Given the description of an element on the screen output the (x, y) to click on. 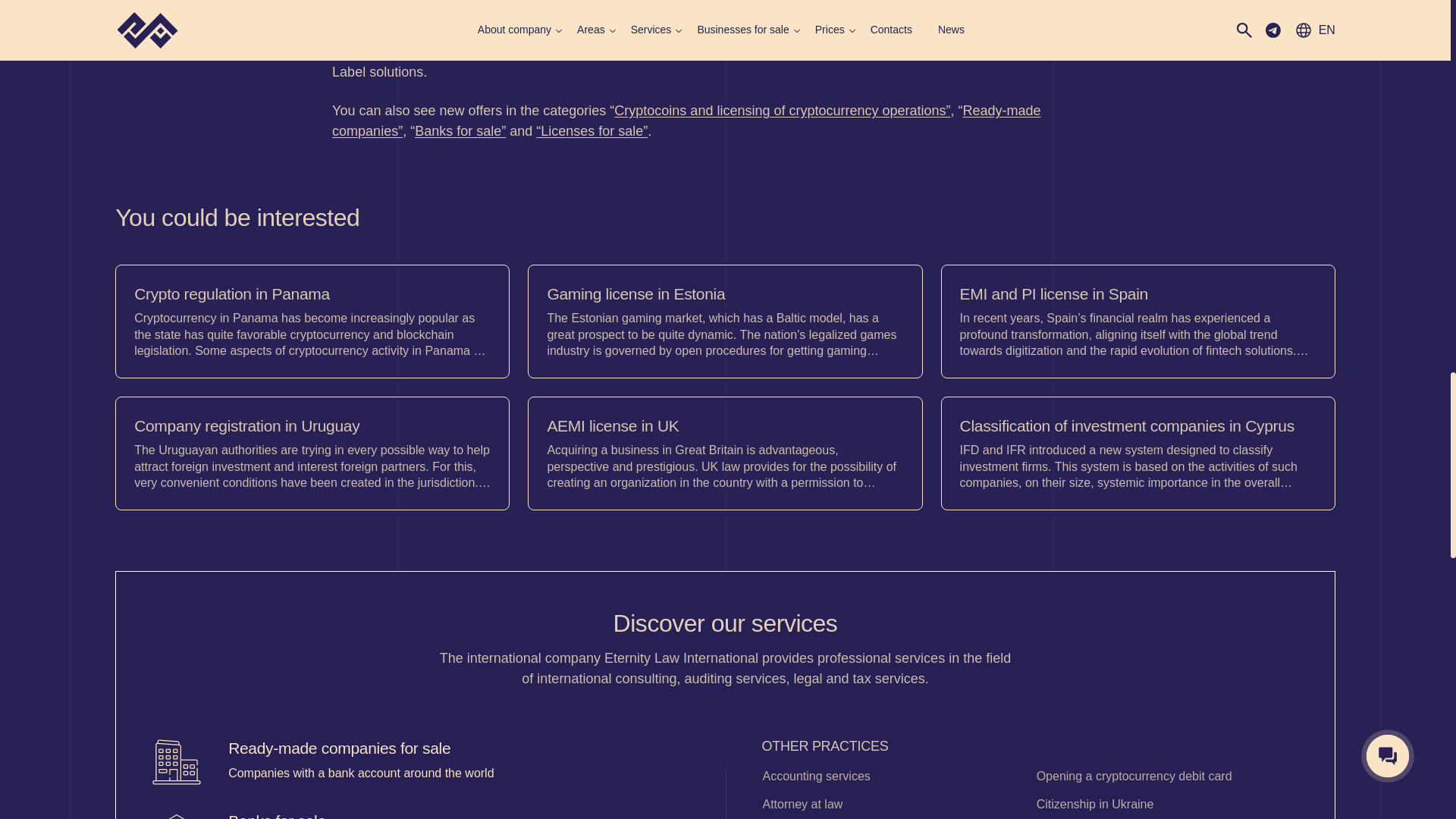
Accounting services (885, 776)
Opening a cryptocurrency debit card (1159, 776)
Attorney at law (885, 804)
